Given the description of an element on the screen output the (x, y) to click on. 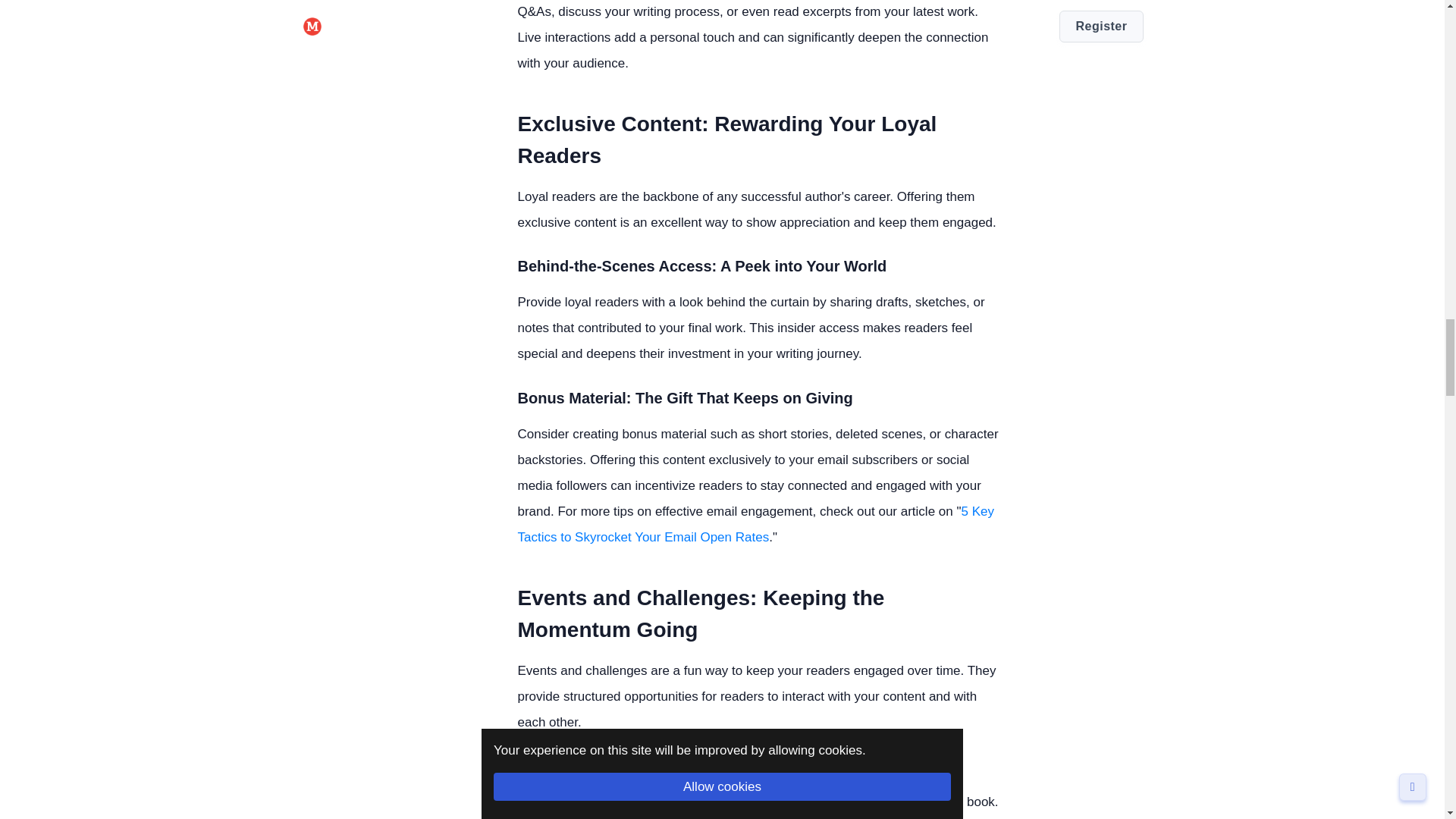
5 Key Tactics to Skyrocket Your Email Open Rates (754, 524)
